Given the description of an element on the screen output the (x, y) to click on. 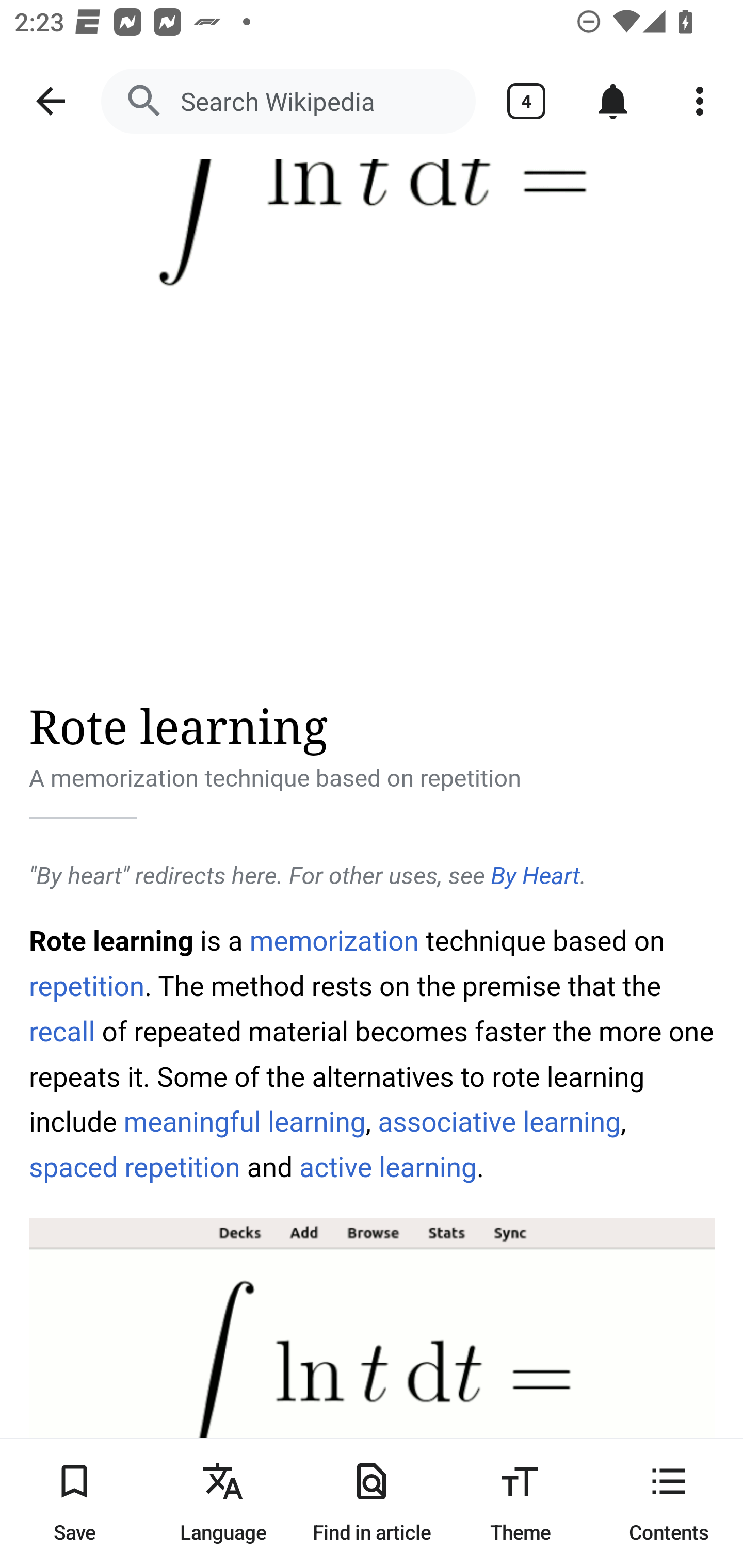
Show tabs 4 (525, 100)
Notifications (612, 100)
Navigate up (50, 101)
More options (699, 101)
Search Wikipedia (288, 100)
By Heart (534, 876)
memorization (334, 940)
repetition (87, 986)
recall (61, 1031)
meaningful learning (244, 1121)
associative learning (499, 1121)
spaced repetition (135, 1167)
active learning (387, 1167)
Save (74, 1502)
Language (222, 1502)
Find in article (371, 1502)
Theme (519, 1502)
Contents (668, 1502)
